Given the description of an element on the screen output the (x, y) to click on. 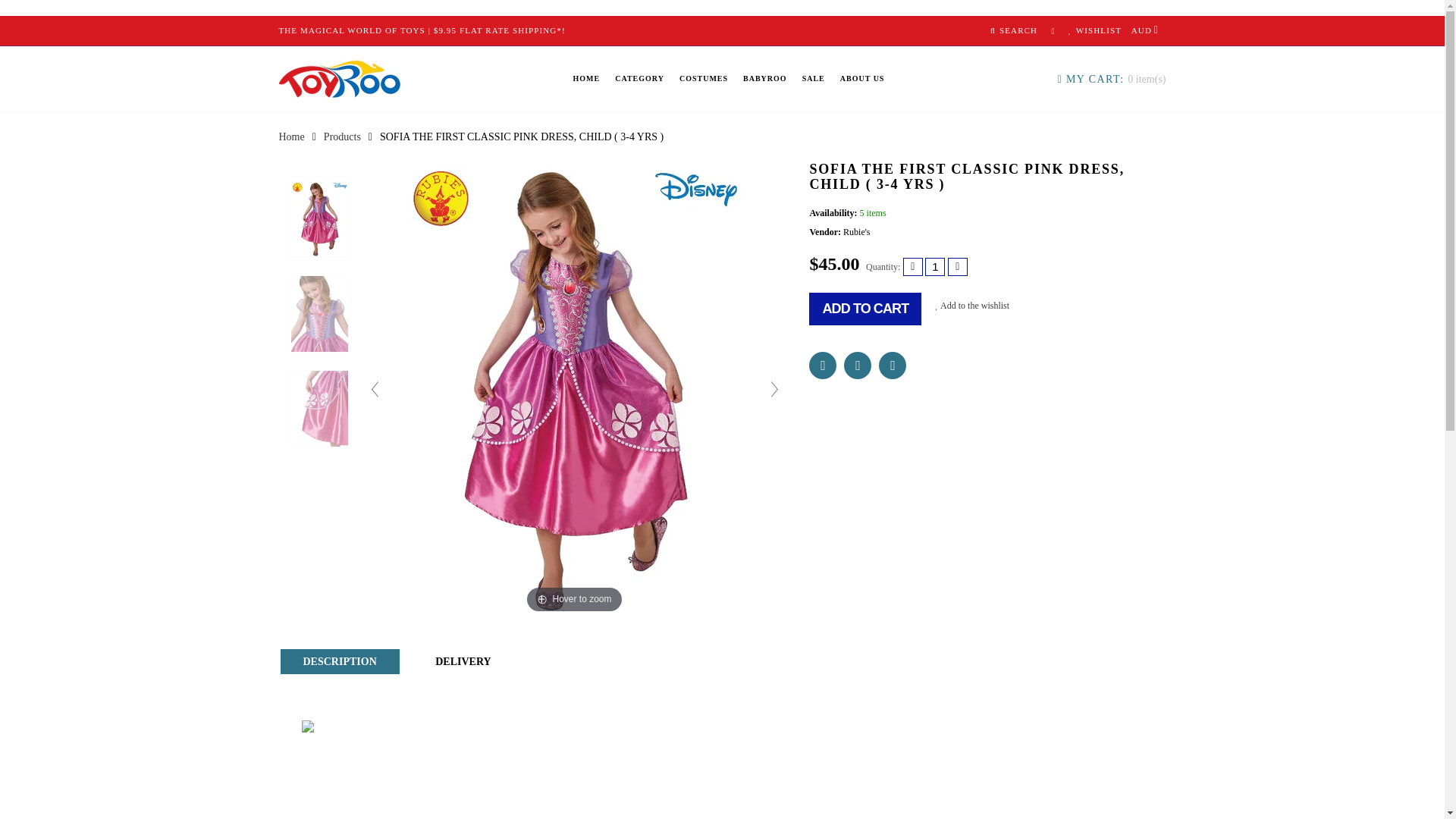
HOME (586, 78)
CATEGORY (638, 78)
1 (934, 266)
Currency (1145, 31)
Share (822, 365)
WISHLIST (1094, 30)
Share (857, 365)
Share (892, 365)
